Given the description of an element on the screen output the (x, y) to click on. 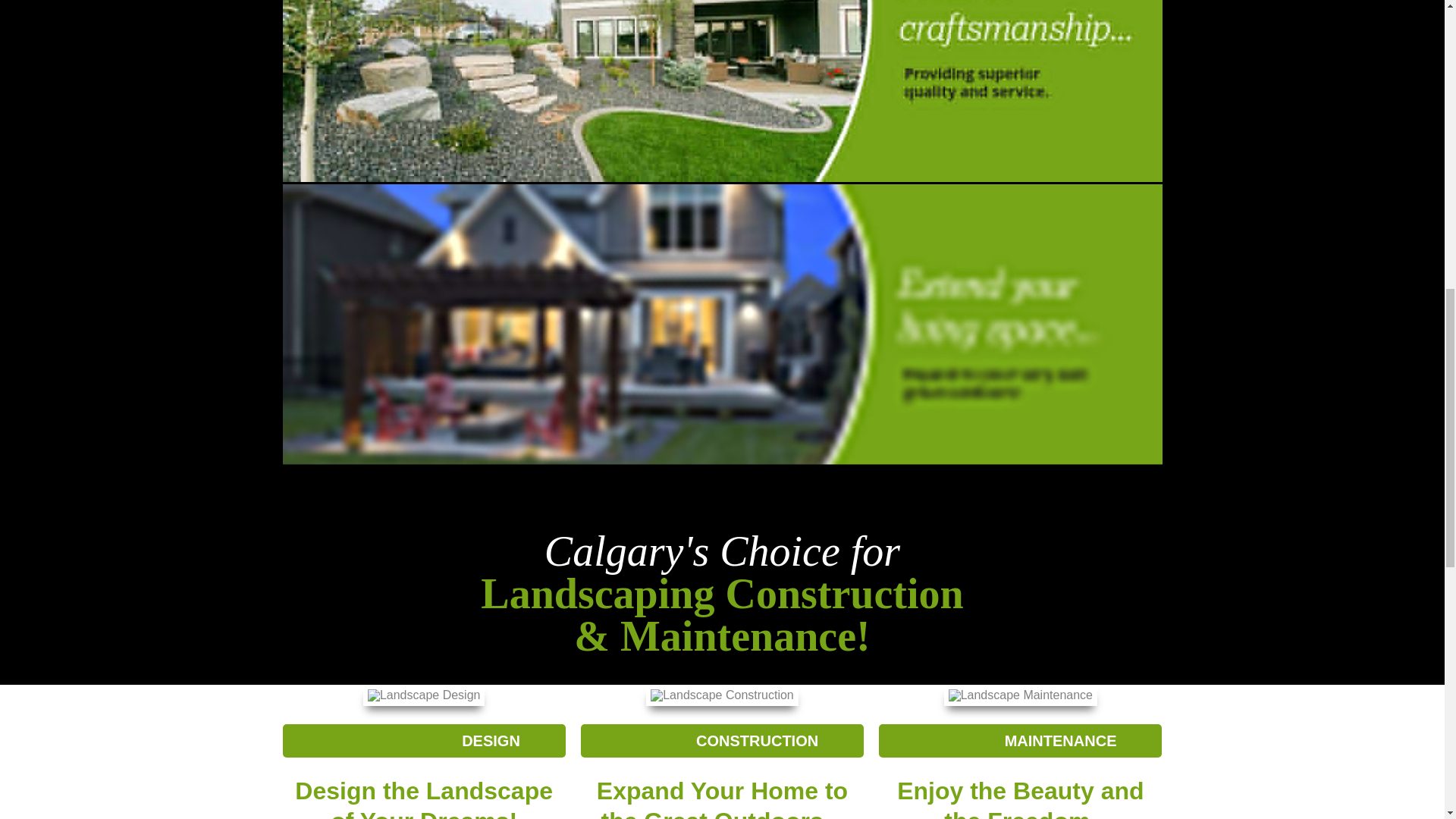
MAINTENANCE (1020, 740)
CONSTRUCTION (721, 740)
DESIGN (423, 740)
